Given the description of an element on the screen output the (x, y) to click on. 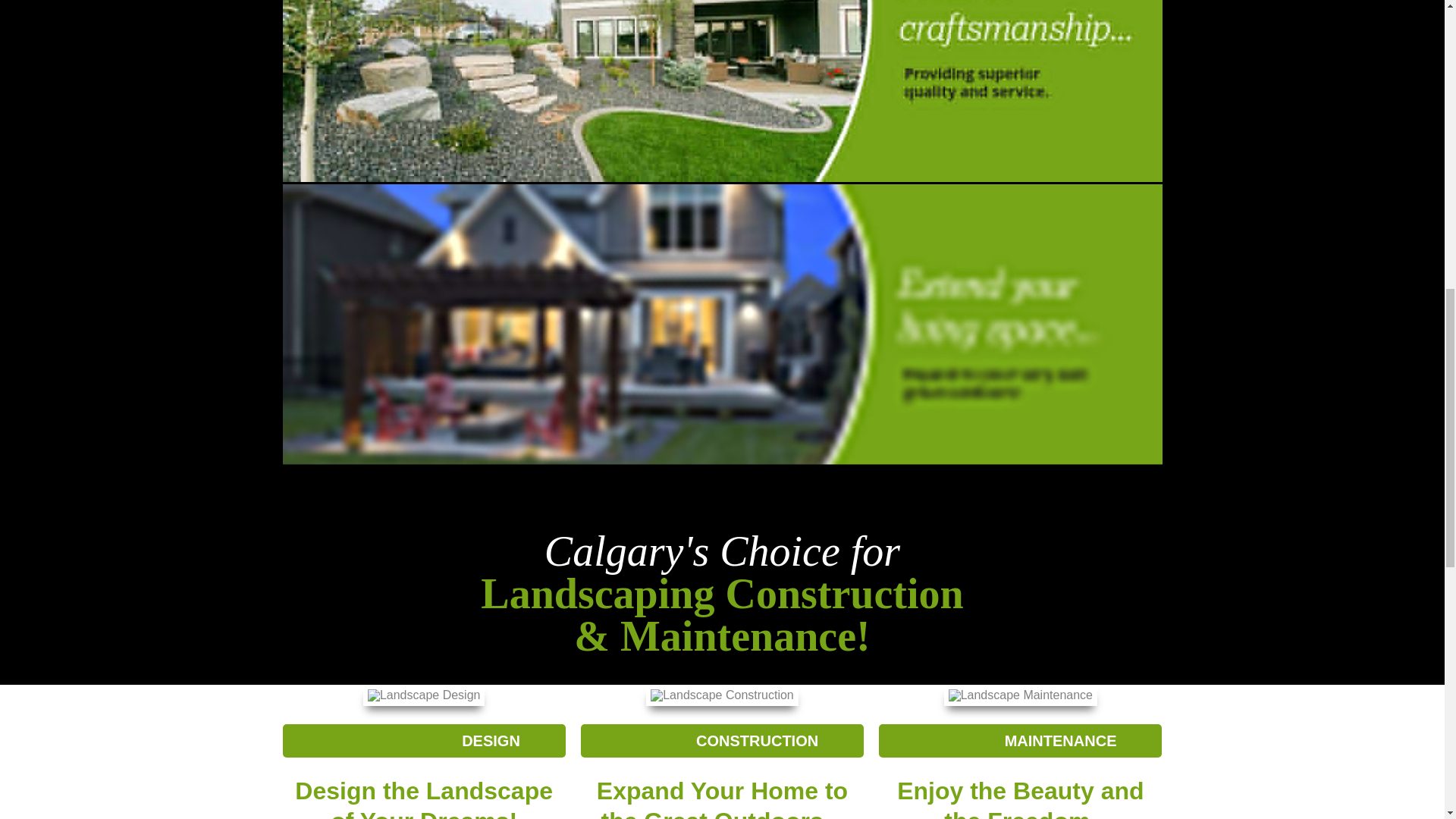
MAINTENANCE (1020, 740)
CONSTRUCTION (721, 740)
DESIGN (423, 740)
